Given the description of an element on the screen output the (x, y) to click on. 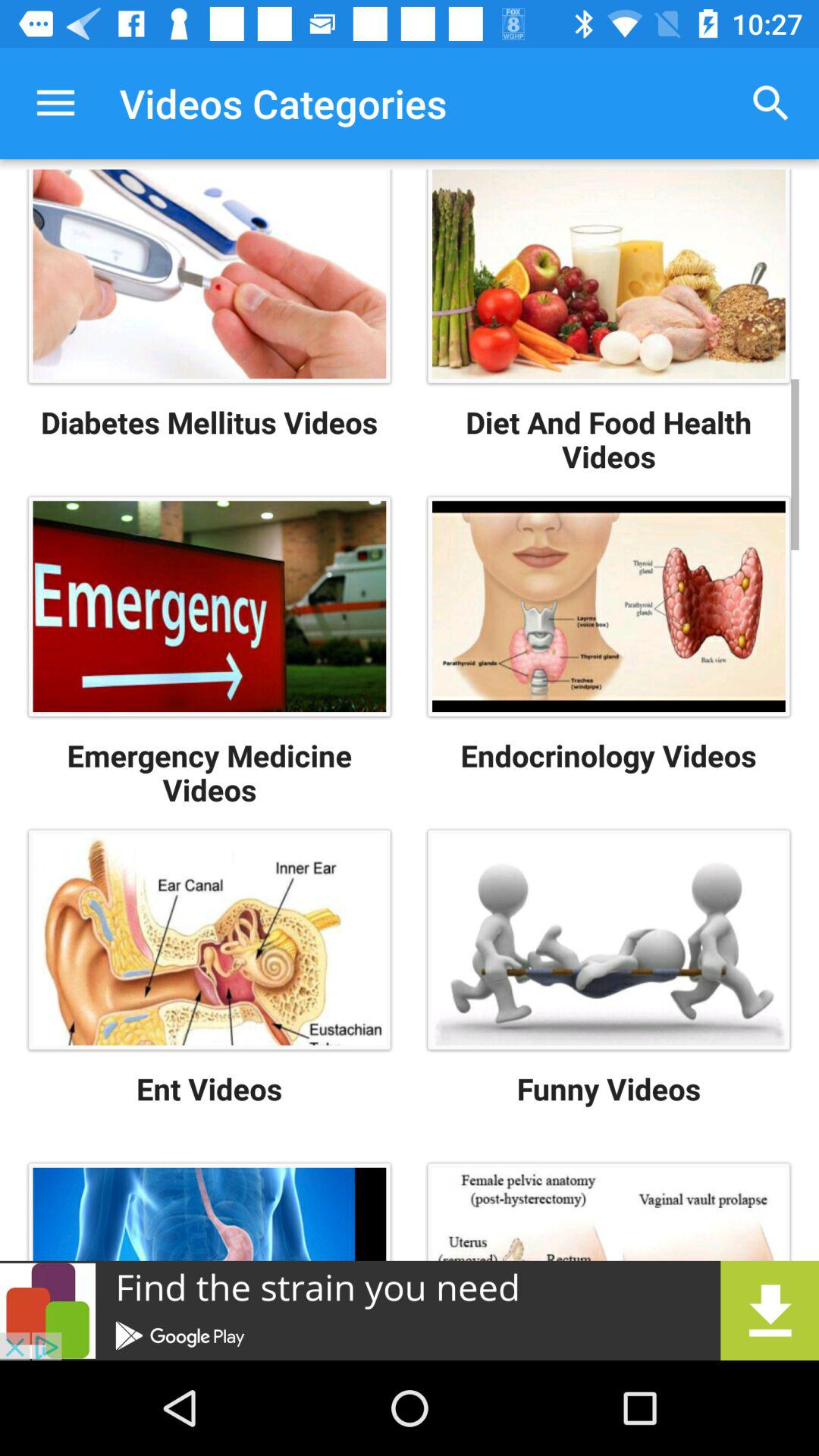
open advertisement (409, 1310)
